Given the description of an element on the screen output the (x, y) to click on. 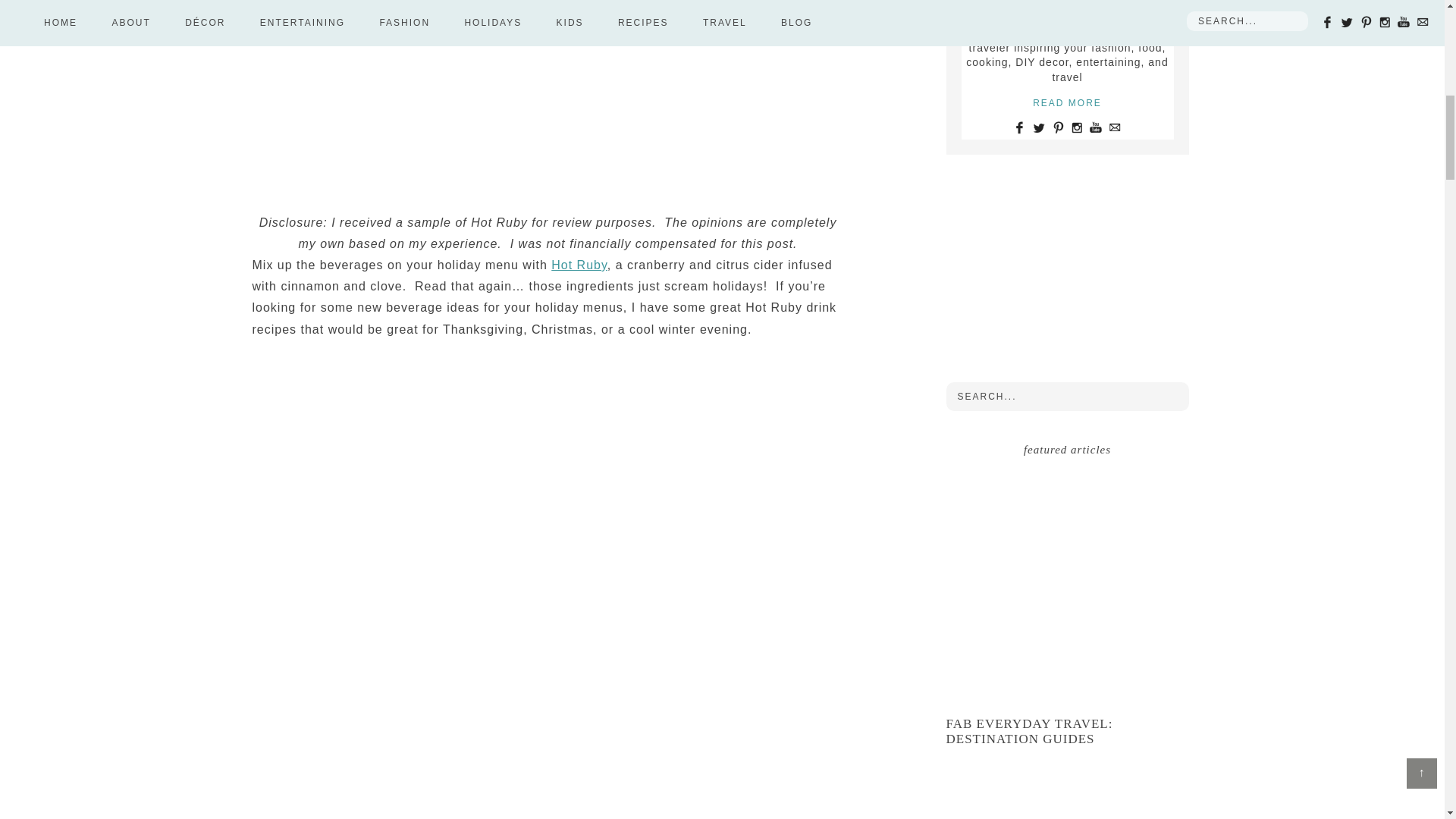
Fab Everyday Travel: Destination Guides (1067, 588)
Fab Everyday Travel: Destination Guides (1029, 731)
Fab Everyday Party Printables (1067, 801)
